Given the description of an element on the screen output the (x, y) to click on. 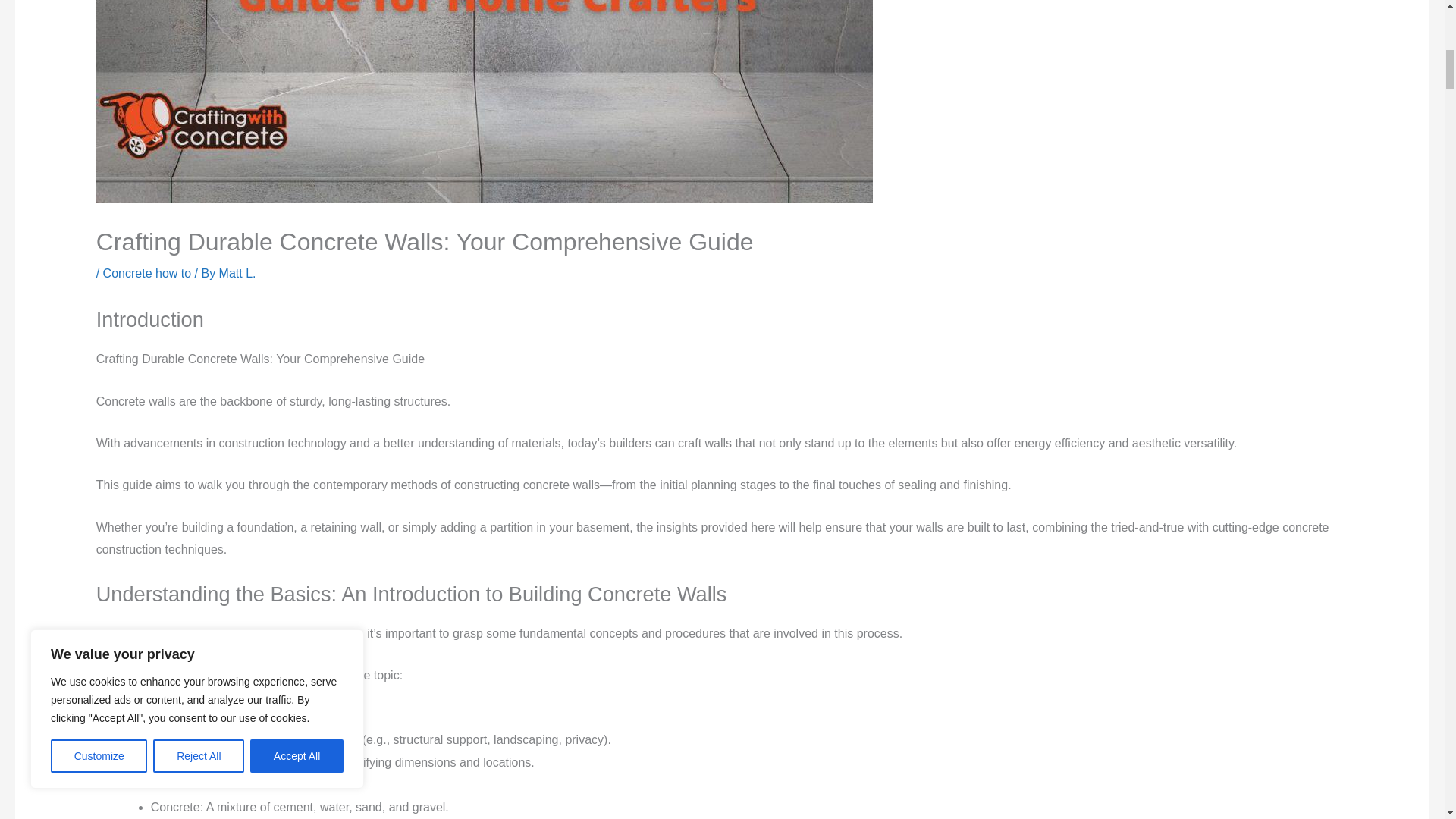
View all posts by Matt L. (237, 273)
Matt L. (237, 273)
Concrete how to (147, 273)
